Given the description of an element on the screen output the (x, y) to click on. 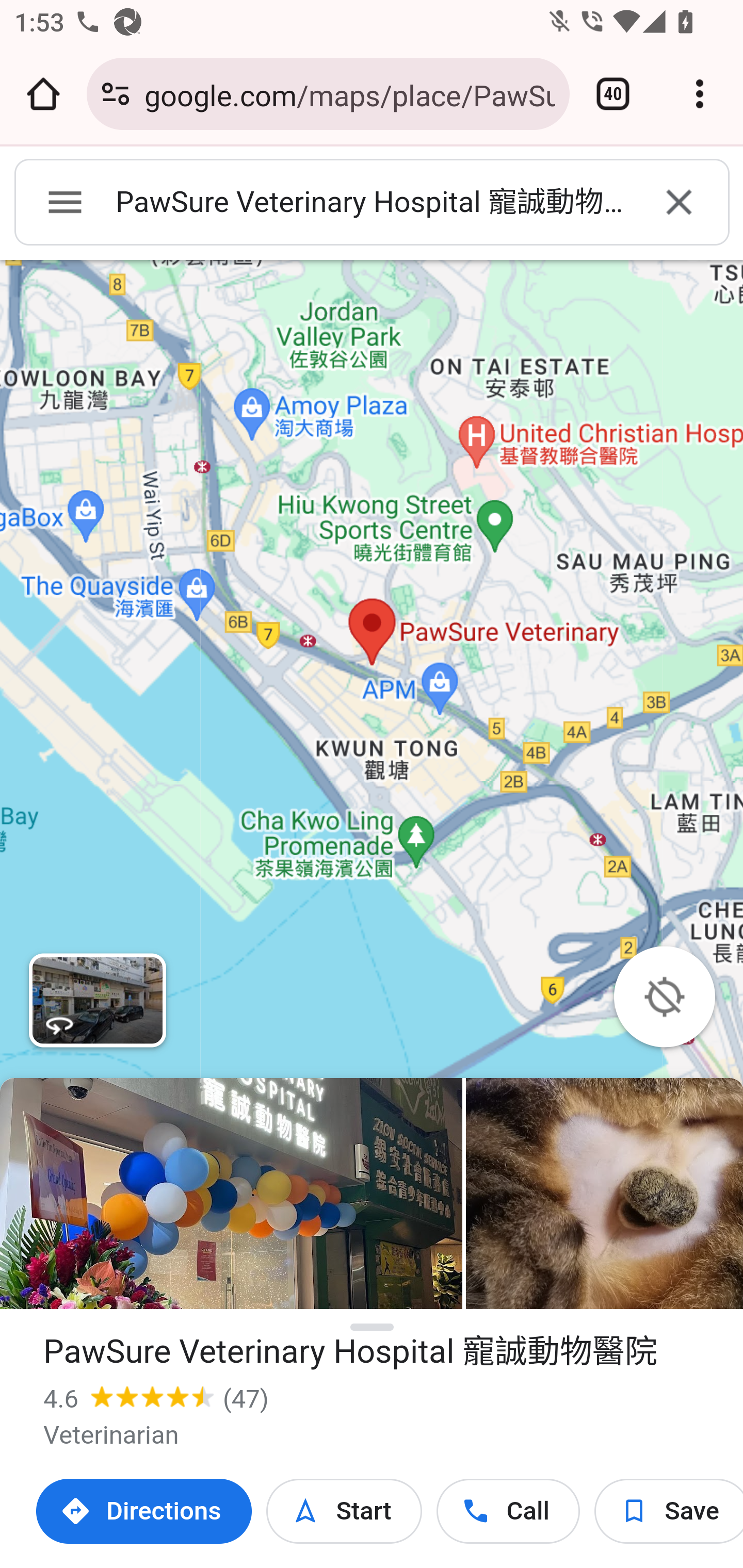
Open the home page (43, 93)
Connection is secure (115, 93)
Switch or close tabs (612, 93)
Customize and control Google Chrome (699, 93)
Photo 1 of 10 (231, 1193)
Photo 2 of 10 (604, 1193)
Show details (372, 1327)
Directions to PawSure Veterinary Hospital 寵誠動物醫院 (144, 1511)
Start (343, 1511)
Call PawSure Veterinary Hospital 寵誠動物醫院  Call (507, 1511)
